Given the description of an element on the screen output the (x, y) to click on. 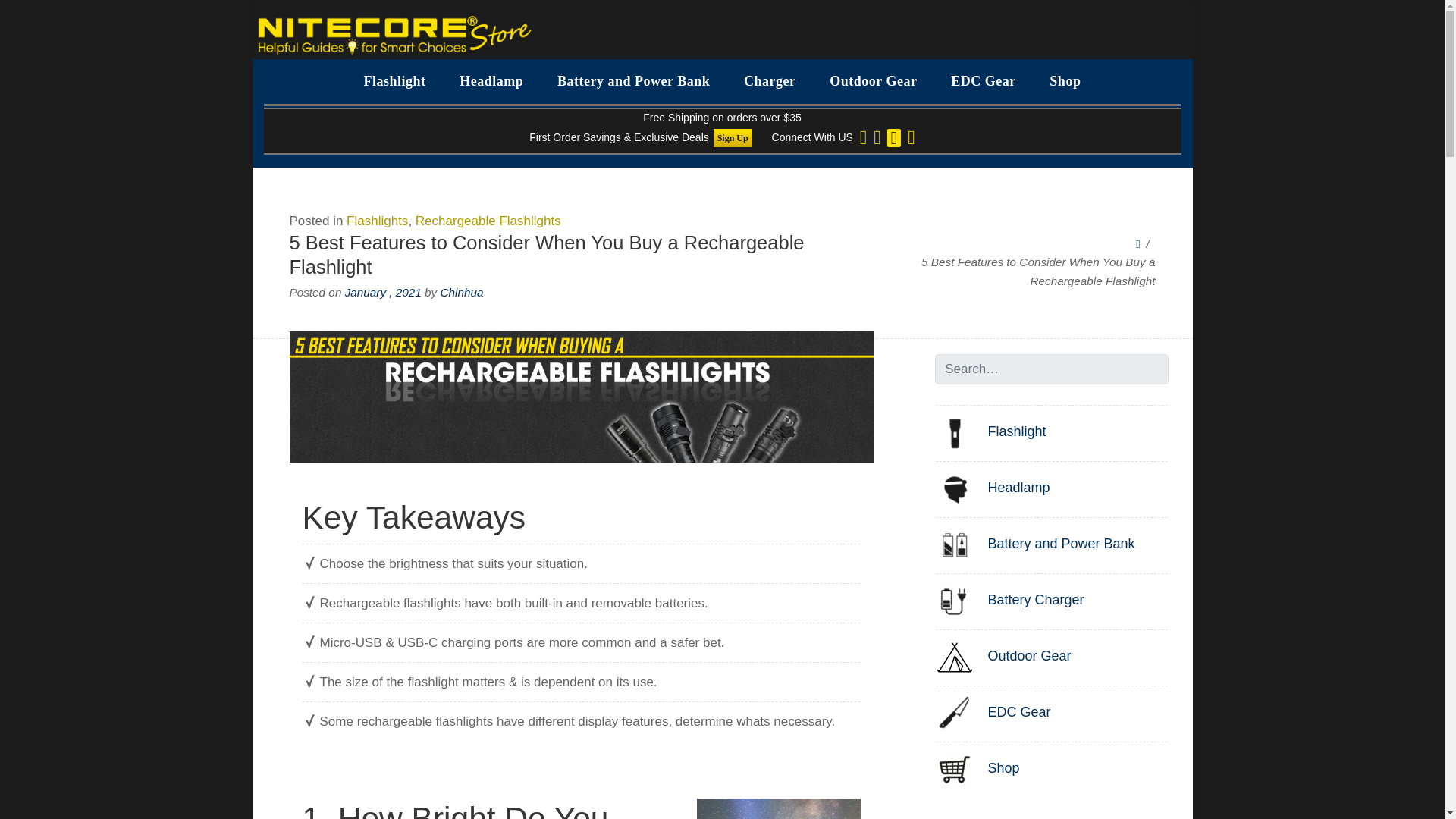
EDC Gear (983, 81)
January , 2021 (383, 291)
Battery and Power Bank (633, 81)
Sign Up (732, 137)
Battery Charger (1009, 599)
Outdoor Gear (872, 81)
Shop (1064, 81)
Flashlights (376, 220)
Chinhua (461, 291)
Headlamp (491, 81)
